Given the description of an element on the screen output the (x, y) to click on. 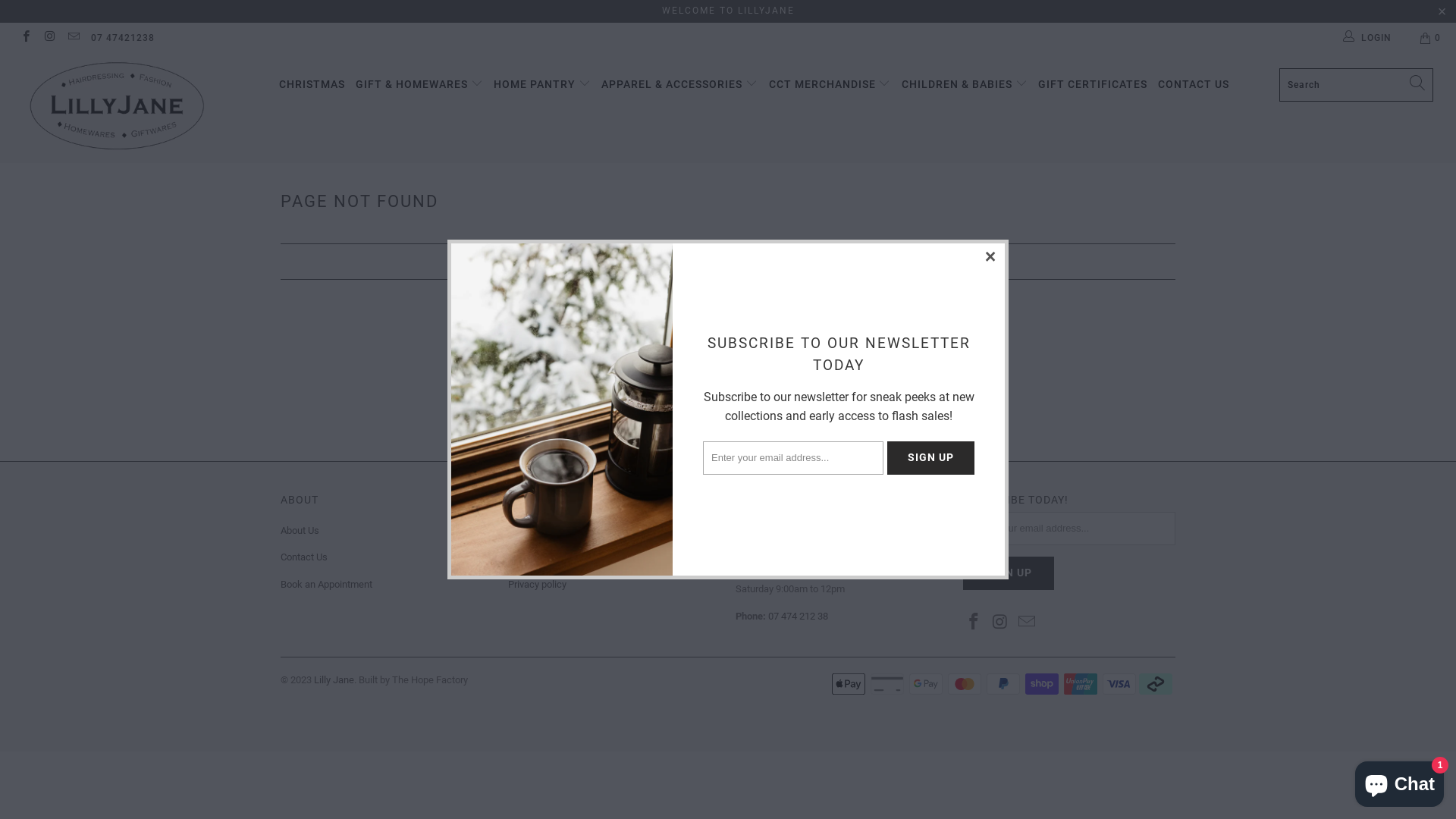
CCT MERCHANDISE Element type: text (829, 84)
07 474 212 38 Element type: text (798, 615)
GIFT & HOMEWARES Element type: text (419, 84)
Lilly Jane Element type: hover (123, 107)
CHILDREN & BABIES Element type: text (964, 84)
HOME PANTRY Element type: text (541, 84)
Refund policy Element type: text (537, 556)
Lilly Jane on Facebook Element type: hover (974, 622)
Book an Appointment Element type: text (326, 583)
Shopify online store chat Element type: hover (1399, 780)
Terms and Conditions Element type: text (554, 530)
Sign Up Element type: text (930, 457)
CONTACT US Element type: text (1193, 84)
About Us Element type: text (299, 530)
Lilly Jane on Instagram Element type: hover (48, 37)
Close Element type: hover (990, 256)
GIFT CERTIFICATES Element type: text (1092, 84)
LOGIN Element type: text (1367, 37)
Privacy policy Element type: text (537, 583)
Lilly Jane on Instagram Element type: hover (1000, 622)
CHRISTMAS Element type: text (312, 84)
Lilly Jane Element type: text (333, 679)
APPAREL & ACCESSORIES Element type: text (679, 84)
Lilly Jane on Facebook Element type: hover (24, 37)
Sign Up Element type: text (1008, 572)
07 47421238 Element type: text (122, 37)
Contact Us Element type: text (303, 556)
Email Lilly Jane Element type: hover (72, 37)
Email Lilly Jane Element type: hover (1026, 622)
